Given the description of an element on the screen output the (x, y) to click on. 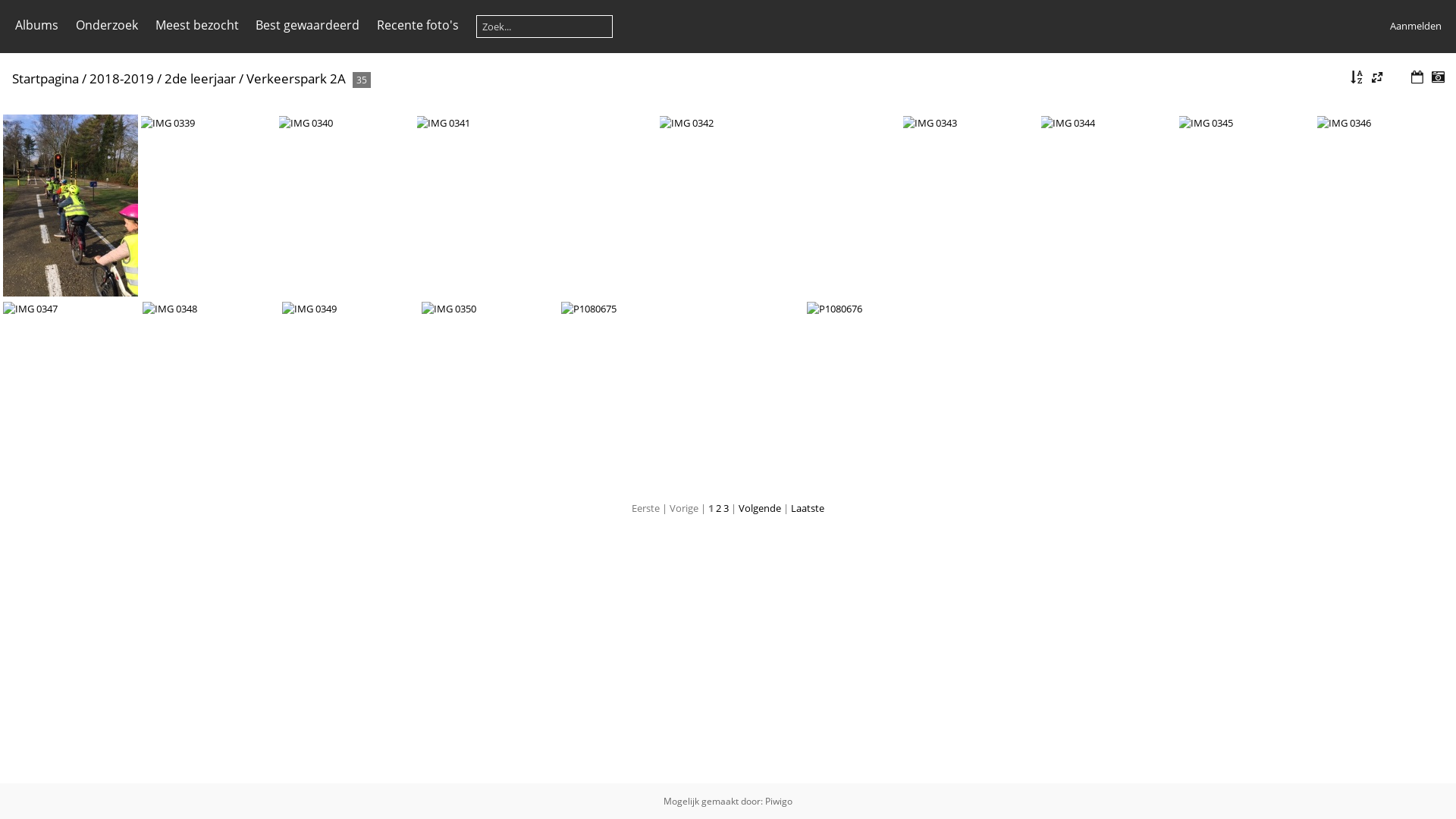
Onderzoek Element type: text (106, 24)
Volgende Element type: text (759, 507)
Sorteervolgorde Element type: hover (1356, 77)
3 Element type: text (725, 507)
Toon een kalender, ingedeeld op plaatsingsdatum Element type: hover (1417, 77)
Best gewaardeerd Element type: text (307, 24)
2018-2019 Element type: text (121, 78)
Albums Element type: text (36, 24)
Fotogroottes Element type: hover (1377, 77)
Laatste Element type: text (807, 507)
Toon een kalender, ingedeeld op aanmaakdatum Element type: hover (1437, 77)
2 Element type: text (718, 507)
2de leerjaar Element type: text (199, 78)
dia-voorstelling Element type: hover (1397, 77)
Recente foto's Element type: text (417, 24)
Startpagina Element type: text (45, 78)
Meest bezocht Element type: text (196, 24)
Verkeerspark 2A Element type: text (295, 78)
Piwigo Element type: text (778, 800)
Aanmelden Element type: text (1414, 25)
